Given the description of an element on the screen output the (x, y) to click on. 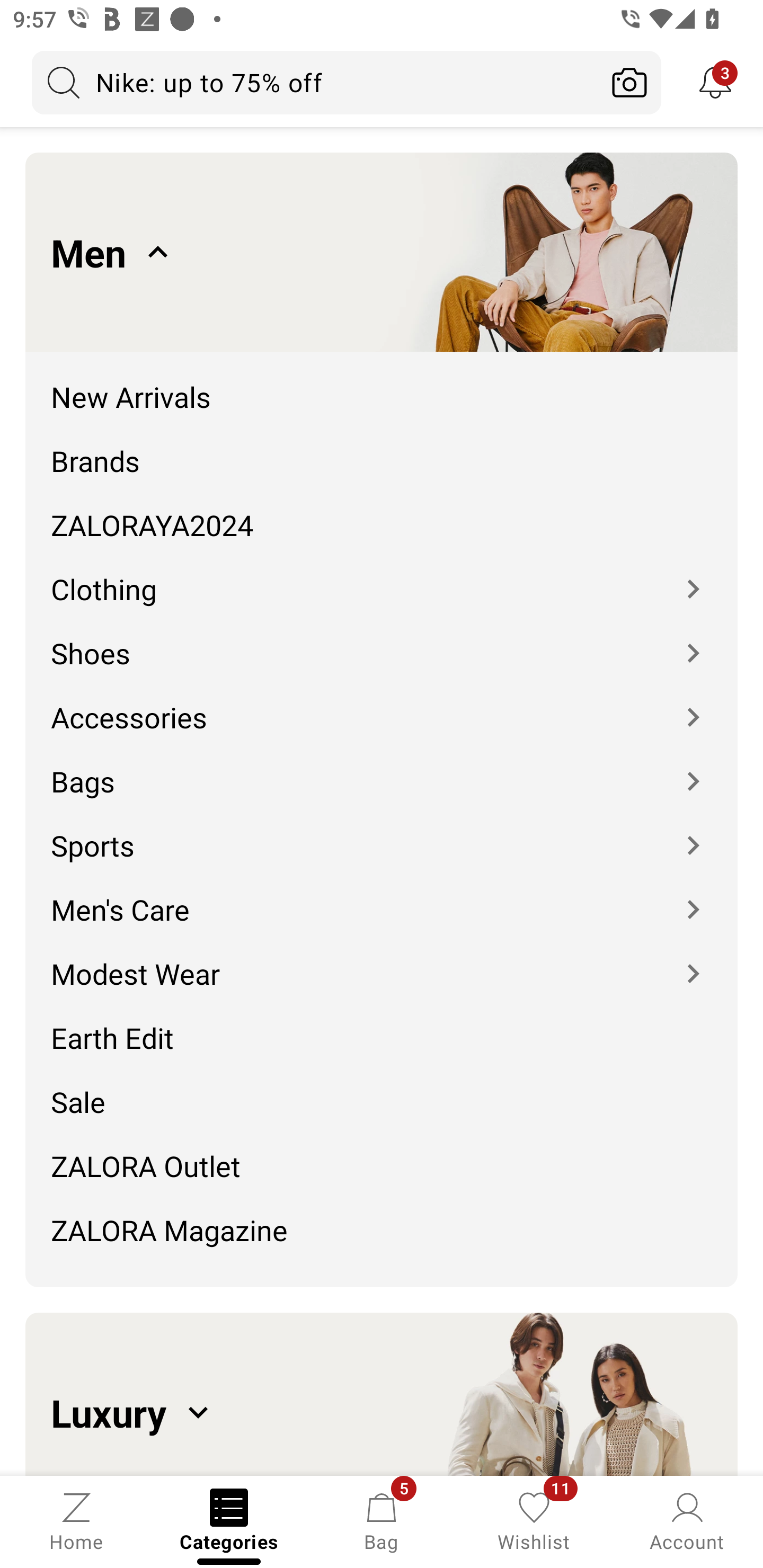
Nike: up to 75% off (314, 82)
Men (381, 251)
New Arrivals (381, 383)
Brands (381, 447)
ZALORAYA2024 (381, 511)
Clothing (381, 576)
Shoes (381, 640)
Accessories (381, 704)
Bags (381, 767)
Sports (381, 831)
Men's Care (381, 895)
Modest Wear (381, 960)
Earth Edit (381, 1024)
Sale (381, 1088)
ZALORA Outlet (381, 1153)
ZALORA Magazine (381, 1236)
Luxury (381, 1393)
Home (76, 1519)
Bag, 5 new notifications Bag (381, 1519)
Wishlist, 11 new notifications Wishlist (533, 1519)
Account (686, 1519)
